Given the description of an element on the screen output the (x, y) to click on. 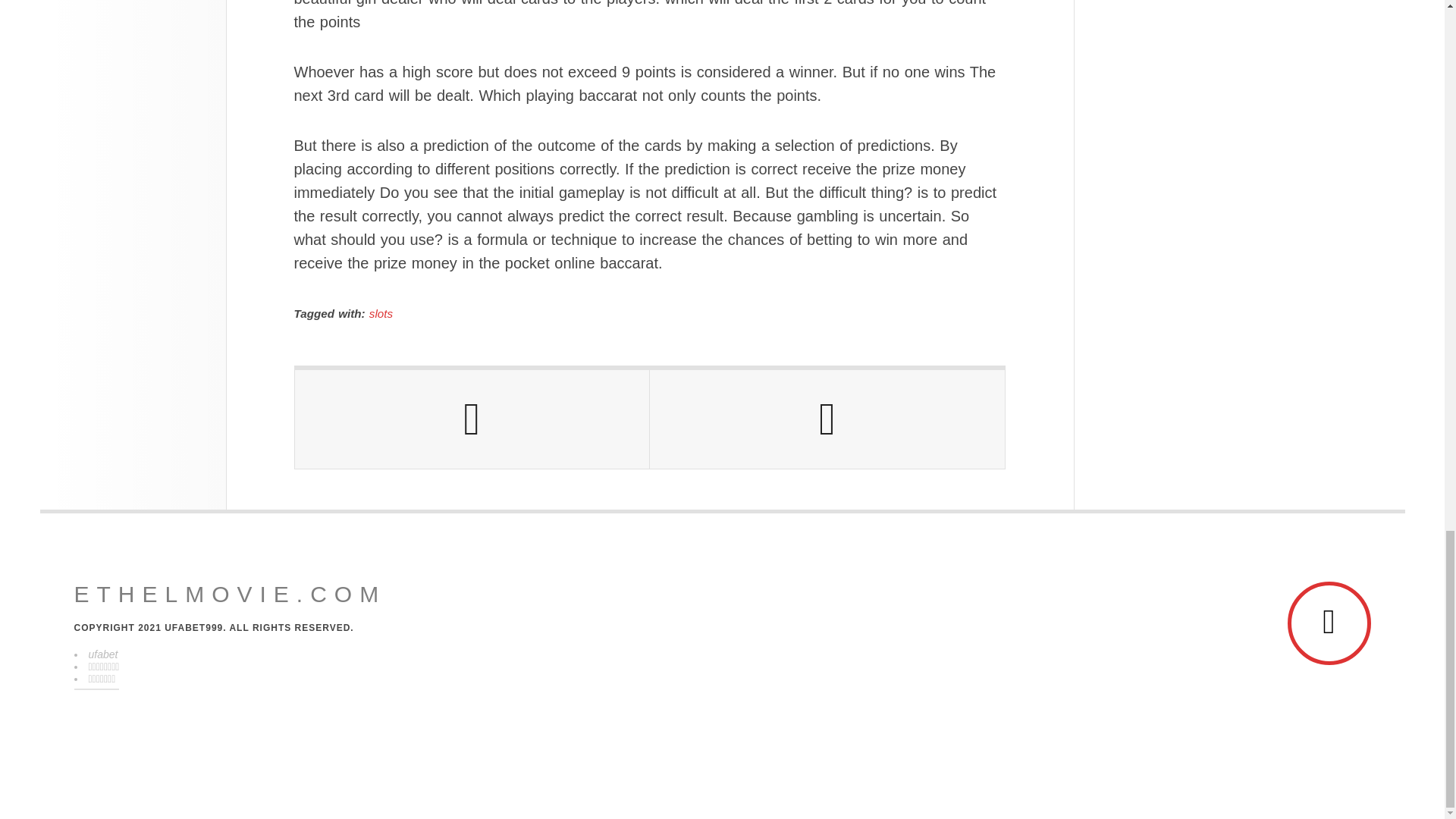
Next Post (826, 419)
ethelmovie.com (230, 594)
slots (381, 313)
Previous Post (471, 419)
